Given the description of an element on the screen output the (x, y) to click on. 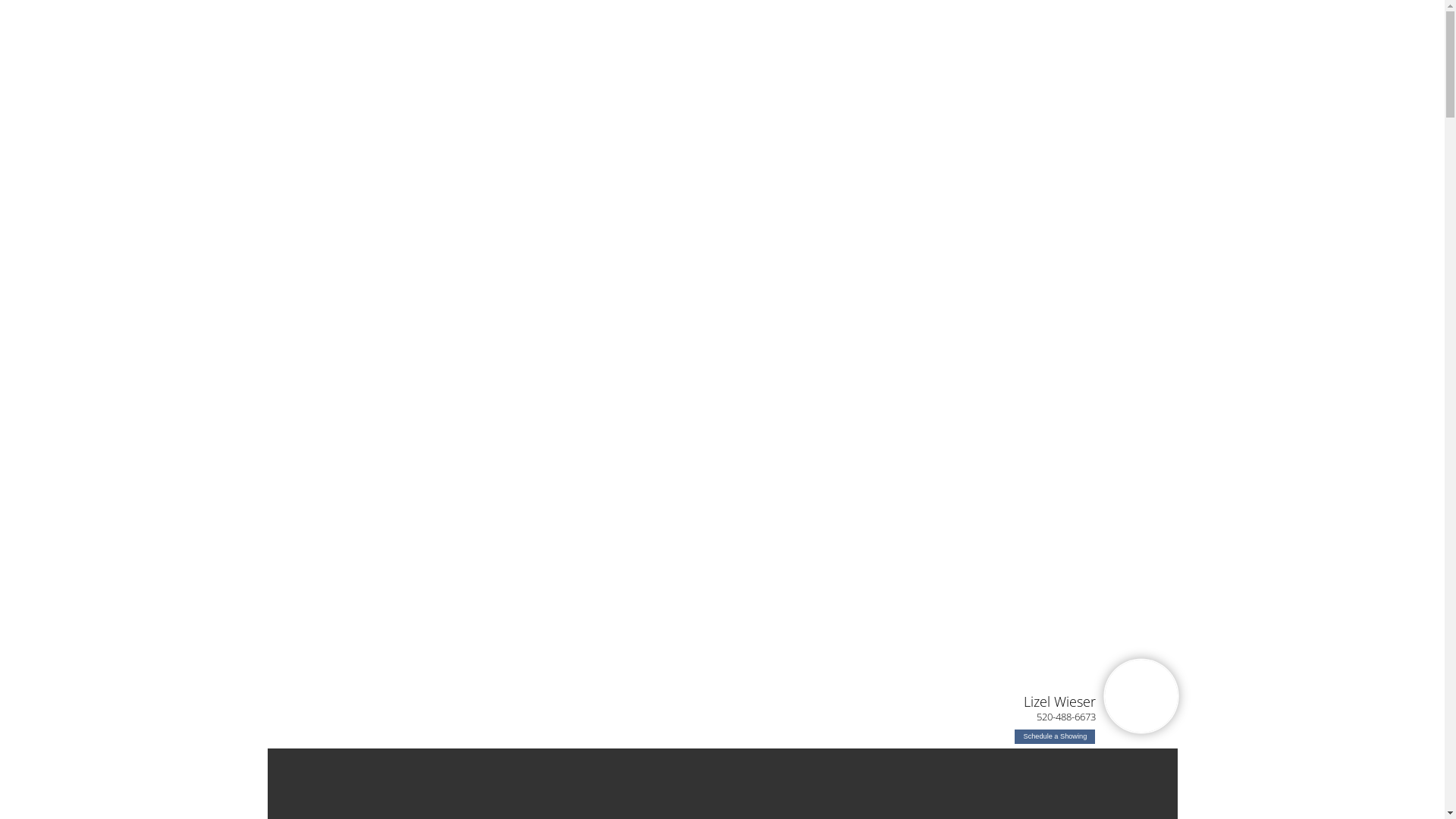
Schedule a Showing Element type: text (1054, 736)
Lizel Wieser Element type: text (1059, 700)
